Given the description of an element on the screen output the (x, y) to click on. 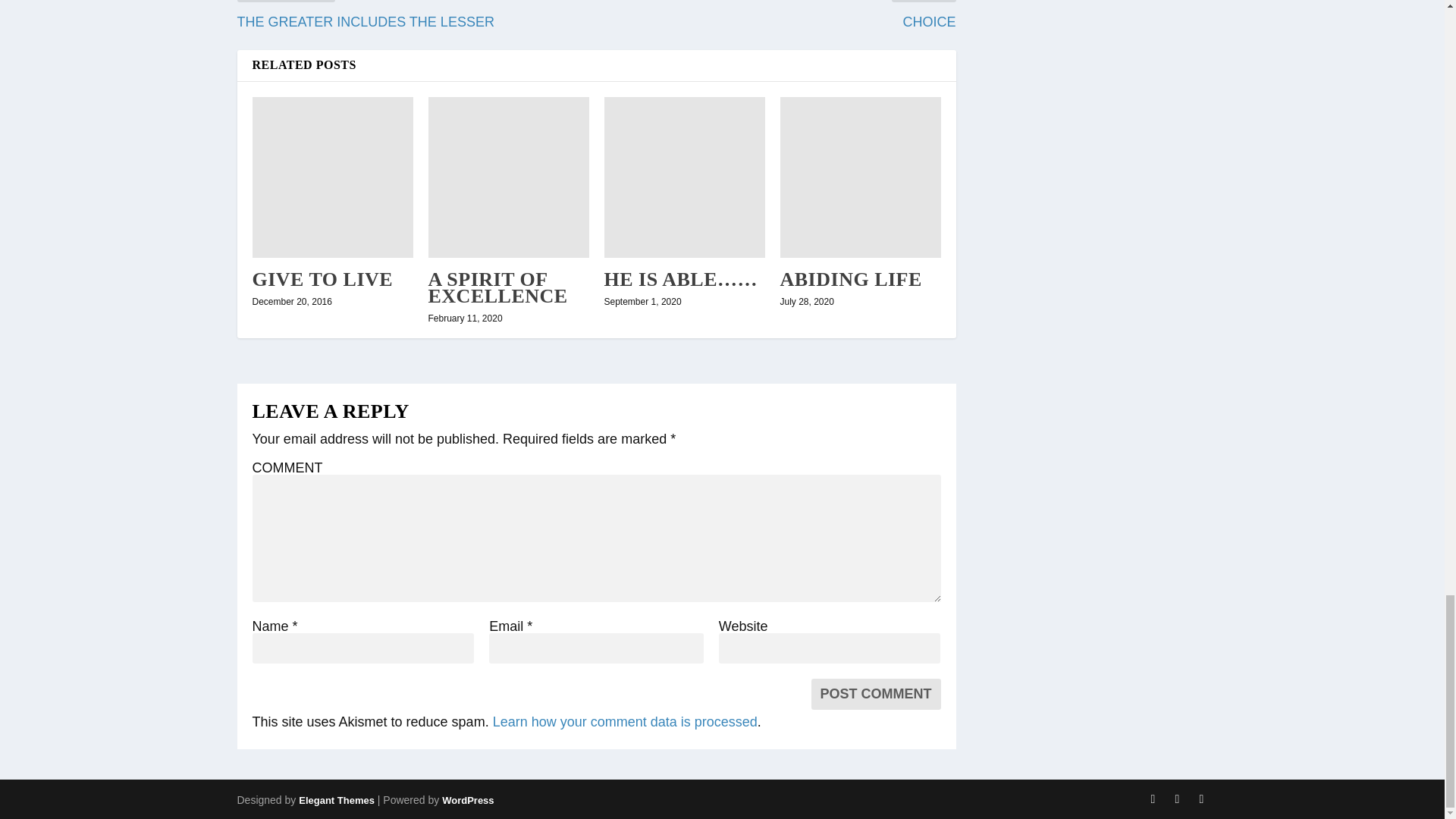
Post Comment (875, 694)
GIVE TO LIVE (322, 279)
A SPIRIT OF EXCELLENCE (497, 287)
